Given the description of an element on the screen output the (x, y) to click on. 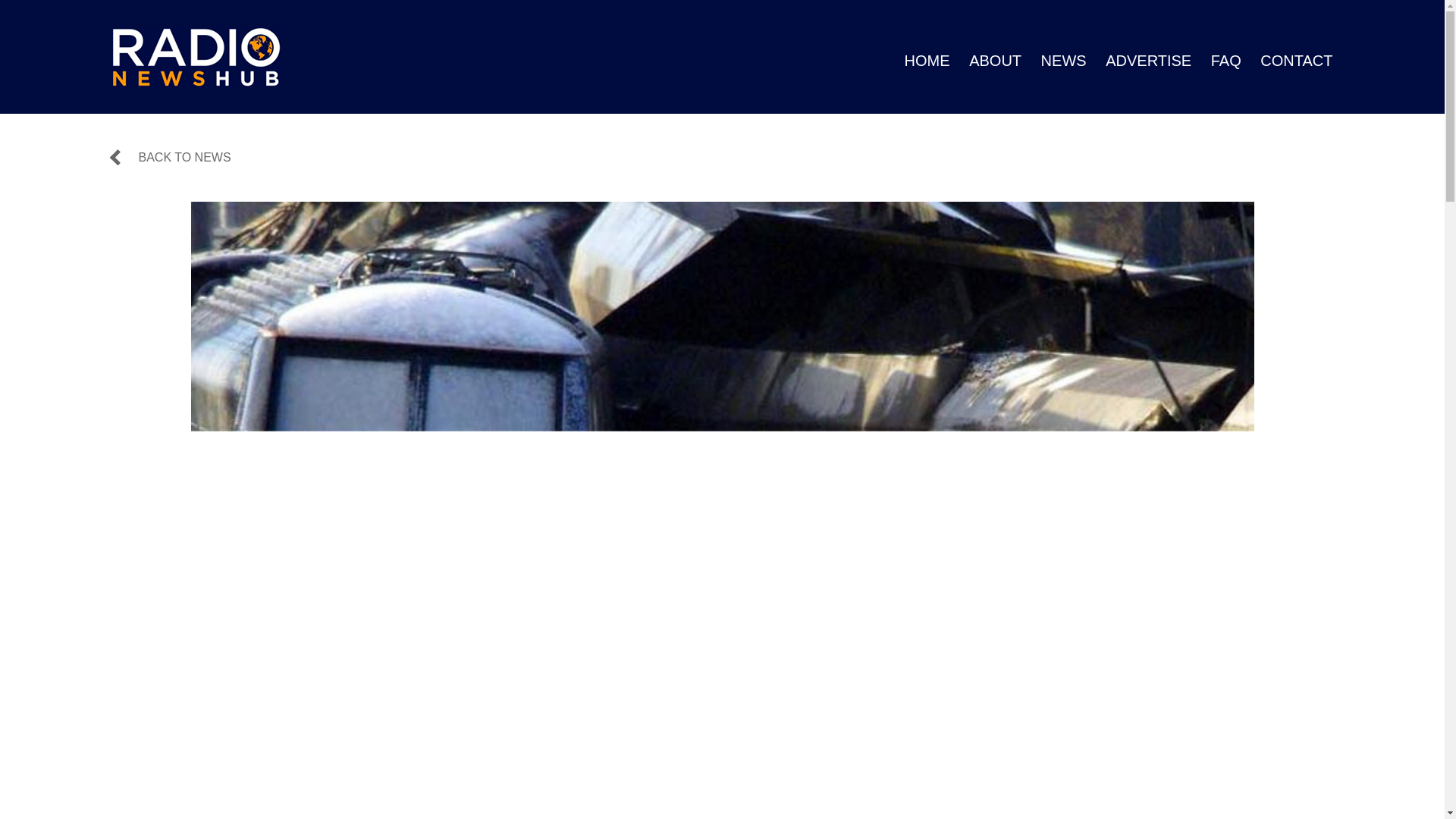
CONTACT (1296, 60)
HOME (927, 60)
ABOUT (995, 60)
ADVERTISE (1148, 60)
FAQ (1226, 60)
BACK TO NEWS (171, 157)
NEWS (1063, 60)
